Given the description of an element on the screen output the (x, y) to click on. 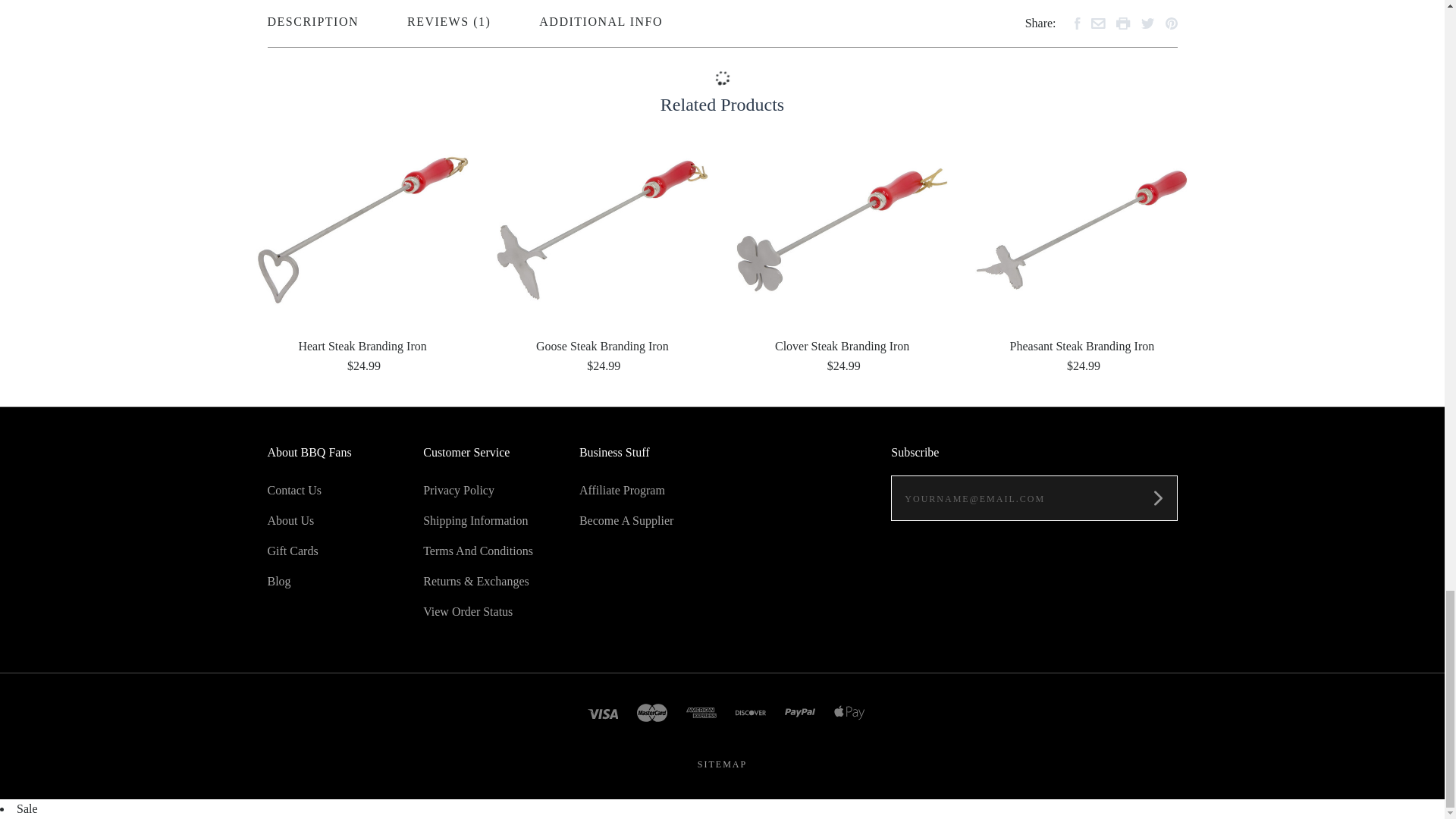
pinterest (1170, 23)
twitter (1147, 23)
printer (1123, 23)
email (1097, 23)
